Given the description of an element on the screen output the (x, y) to click on. 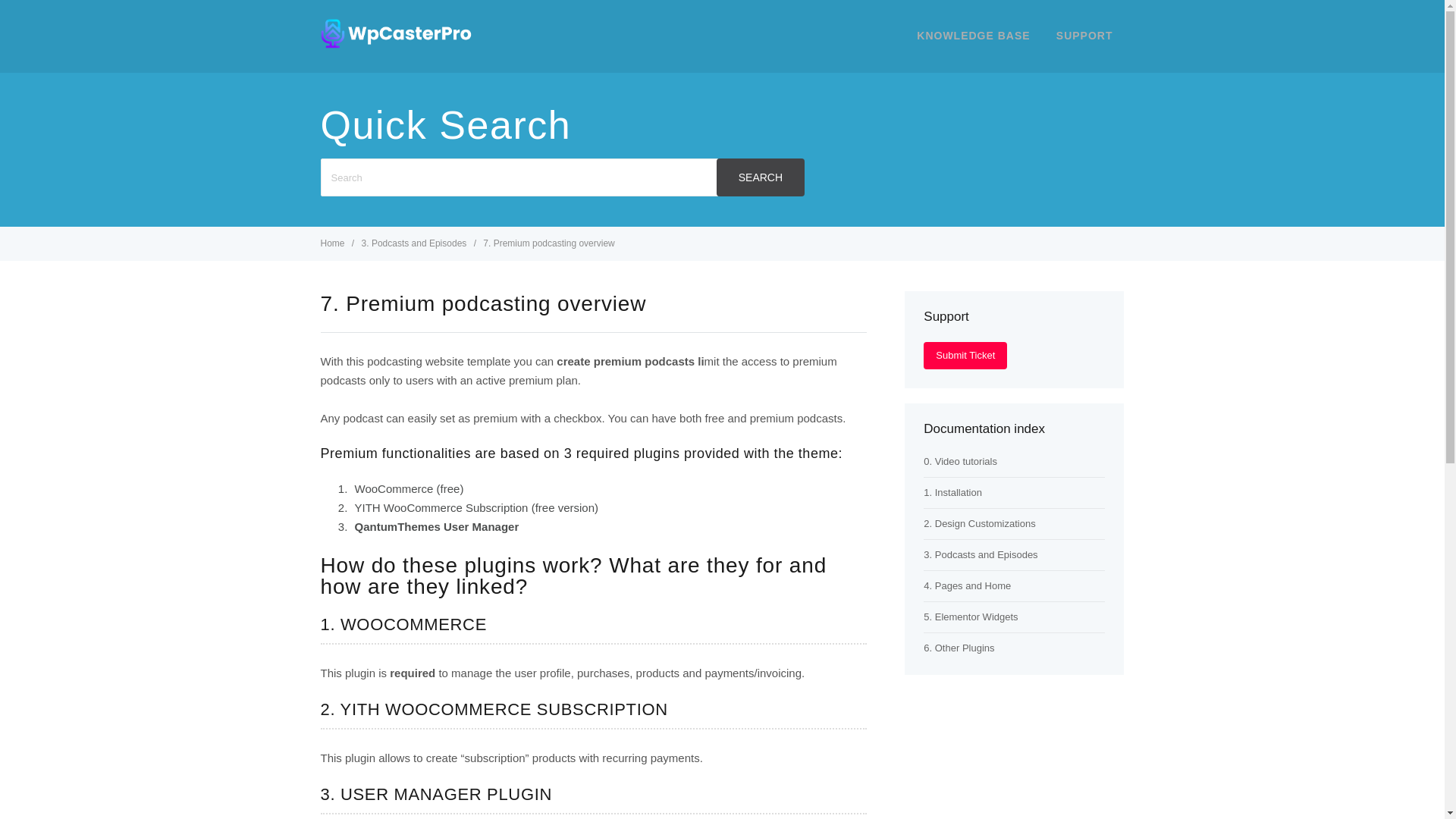
WpCastrer Pro WordPress Theme manual (395, 43)
1. Installation (952, 491)
SEARCH (759, 177)
4. Pages and Home (966, 585)
KNOWLEDGE BASE (973, 35)
6. Other Plugins (958, 647)
3. Podcasts and Episodes (414, 243)
0. Video tutorials (960, 460)
3. Podcasts and Episodes (979, 554)
2. Design Customizations (979, 523)
